Given the description of an element on the screen output the (x, y) to click on. 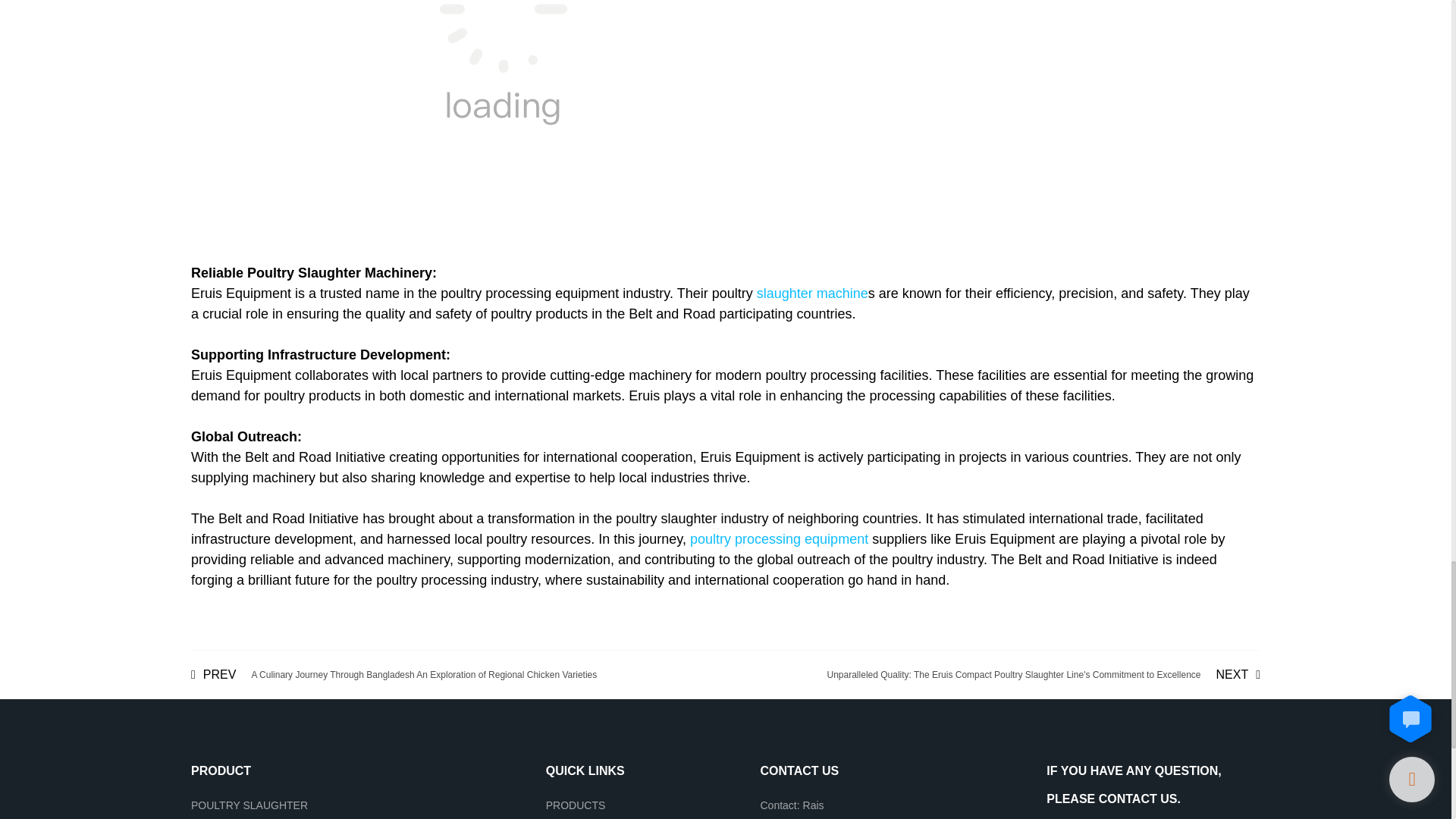
poultry processing equipment (778, 539)
slaughter machine (812, 293)
